Given the description of an element on the screen output the (x, y) to click on. 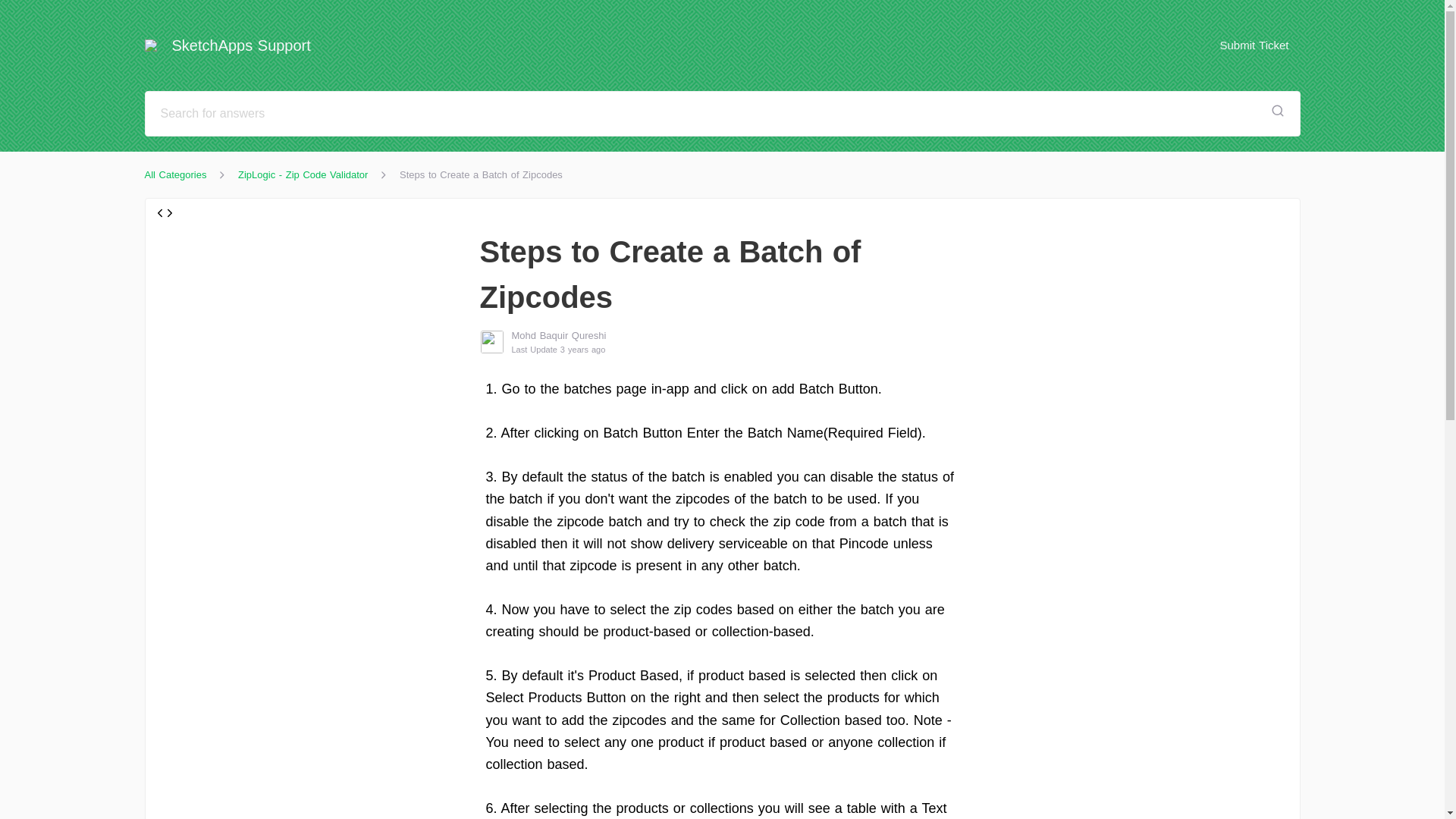
Submit Ticket (1254, 45)
SketchApps Support (234, 45)
All Categories (175, 174)
